Given the description of an element on the screen output the (x, y) to click on. 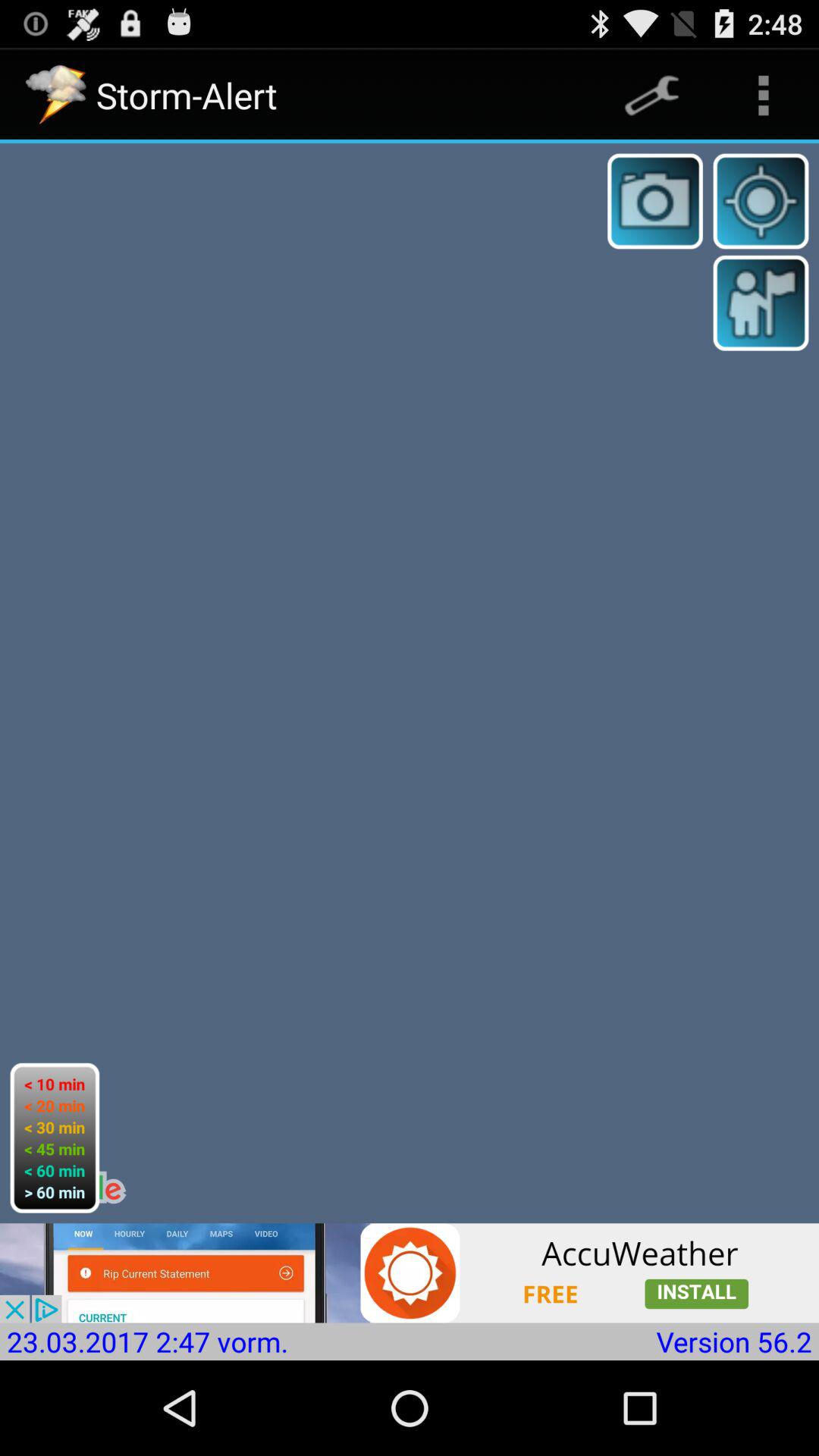
turn on the item to the right of storm-alert app (651, 95)
